Given the description of an element on the screen output the (x, y) to click on. 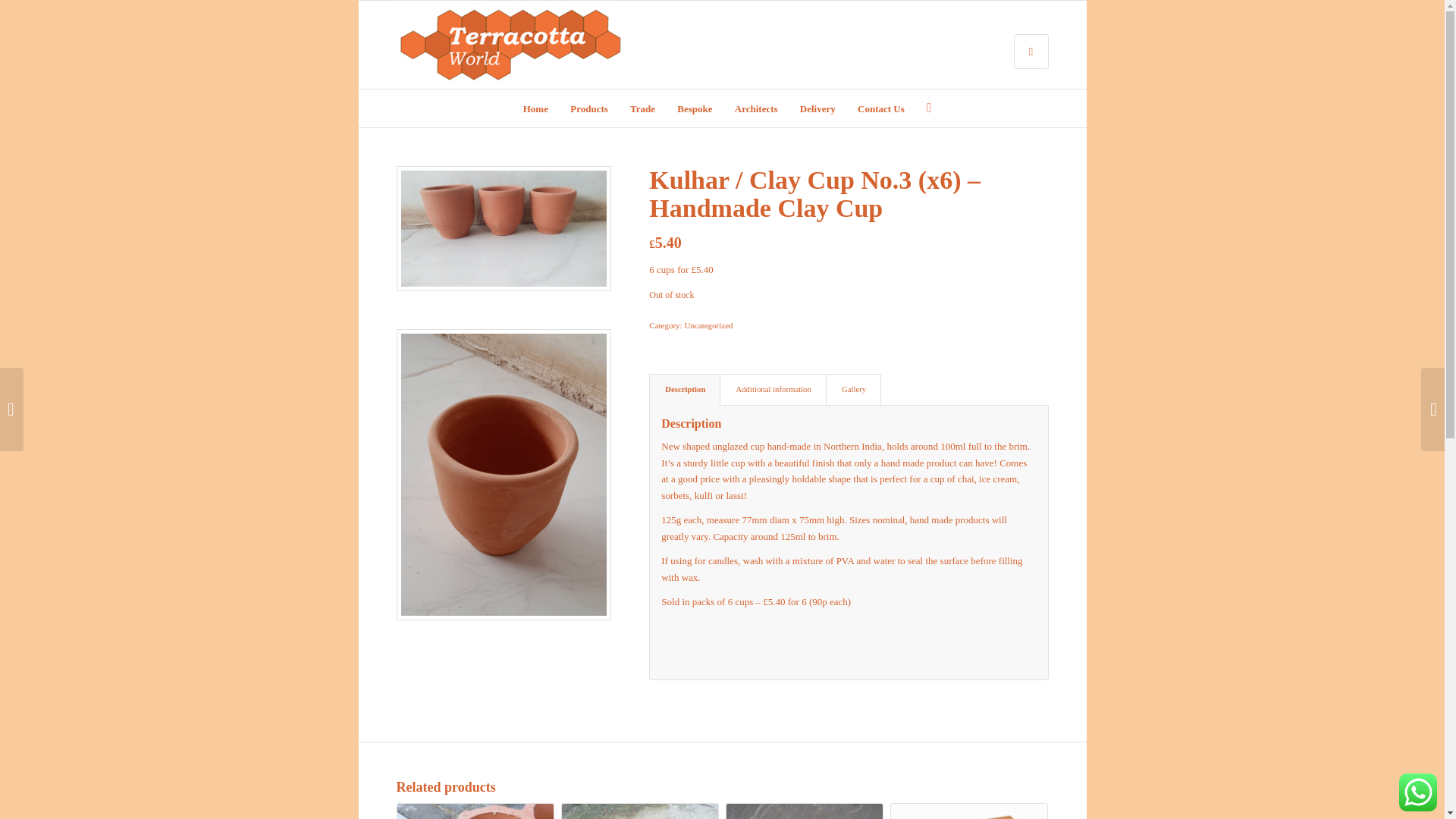
Contact Us (880, 108)
Fishes Screen Block (969, 811)
Gallery (852, 388)
Architects (756, 108)
Home (535, 108)
Uncategorized (708, 325)
Products (588, 108)
Trade (642, 108)
Description (684, 388)
Additional information (772, 388)
Description (684, 388)
Additional information (772, 388)
Gallery (852, 388)
Delivery (817, 108)
Fleur-de-Lys Tiles (804, 811)
